Given the description of an element on the screen output the (x, y) to click on. 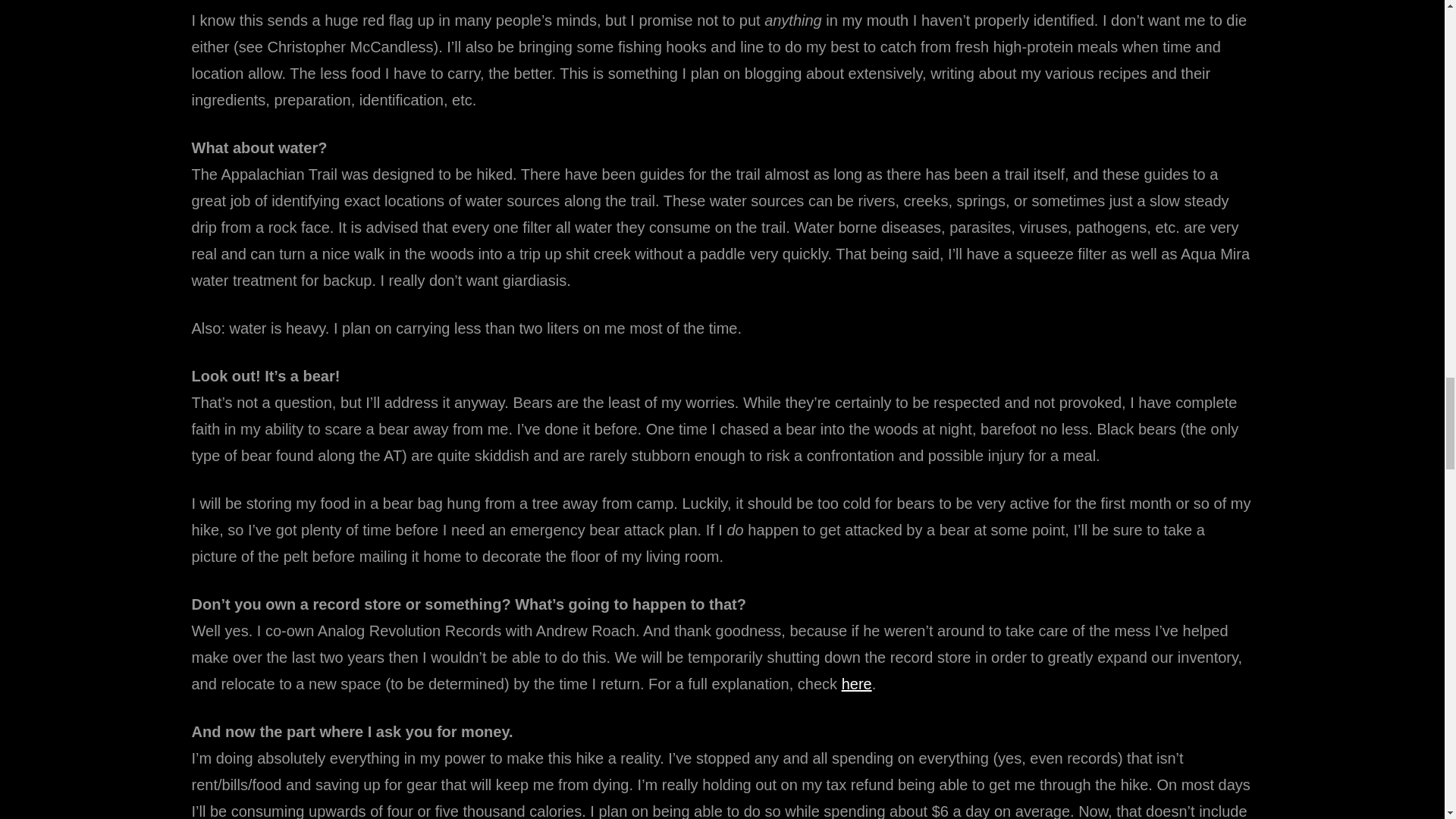
here (856, 683)
